Given the description of an element on the screen output the (x, y) to click on. 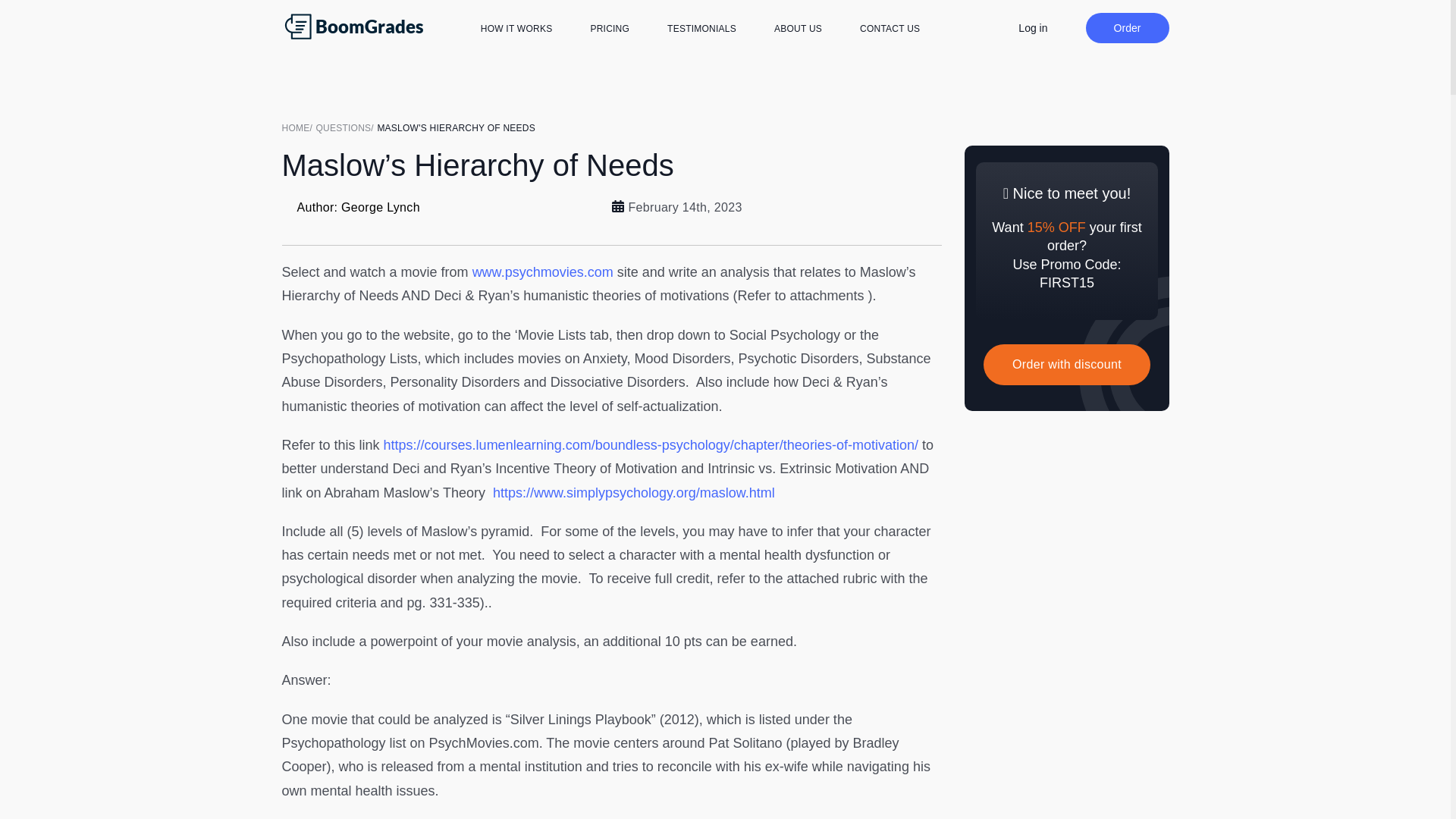
Order with discount (1066, 363)
Go to Boom Grades (298, 126)
ABOUT US (798, 28)
HOME (298, 126)
HOW IT WORKS (516, 28)
Order (1127, 28)
TESTIMONIALS (701, 28)
CONTACT US (890, 28)
www.psychmovies.com (541, 272)
Log in (1031, 27)
PRICING (608, 28)
